Given the description of an element on the screen output the (x, y) to click on. 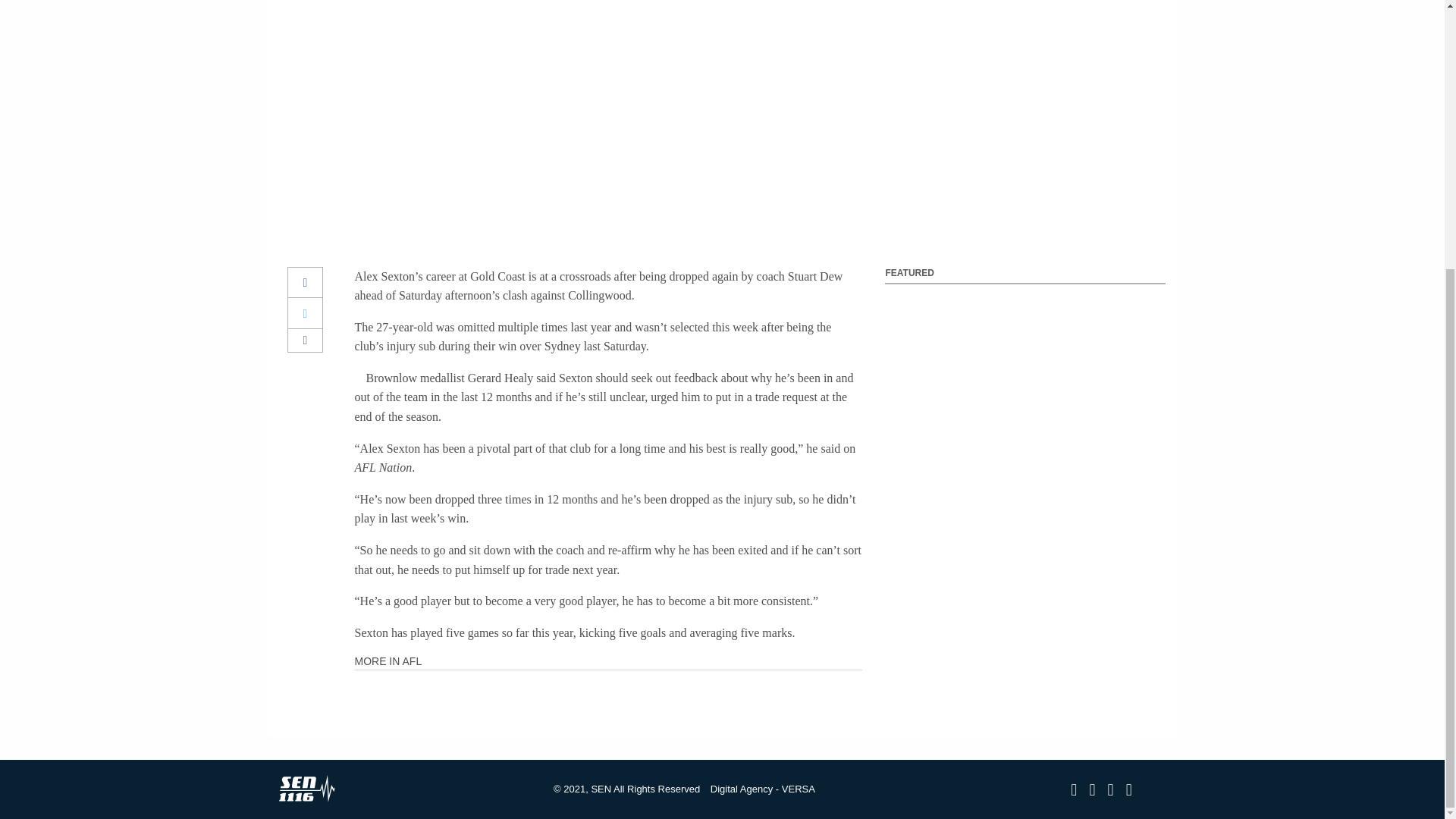
NEW SOUTH WALES (721, 572)
QUEENSLAND (722, 608)
NEW ZEALAND (722, 764)
Tweet (305, 313)
VICTORIA (721, 536)
SOUTH AUSTRALIA (721, 646)
TASMANIA (722, 720)
WESTERN AUSTRALIA (721, 682)
Share on Facebook (305, 282)
Digital Agency (741, 788)
